Given the description of an element on the screen output the (x, y) to click on. 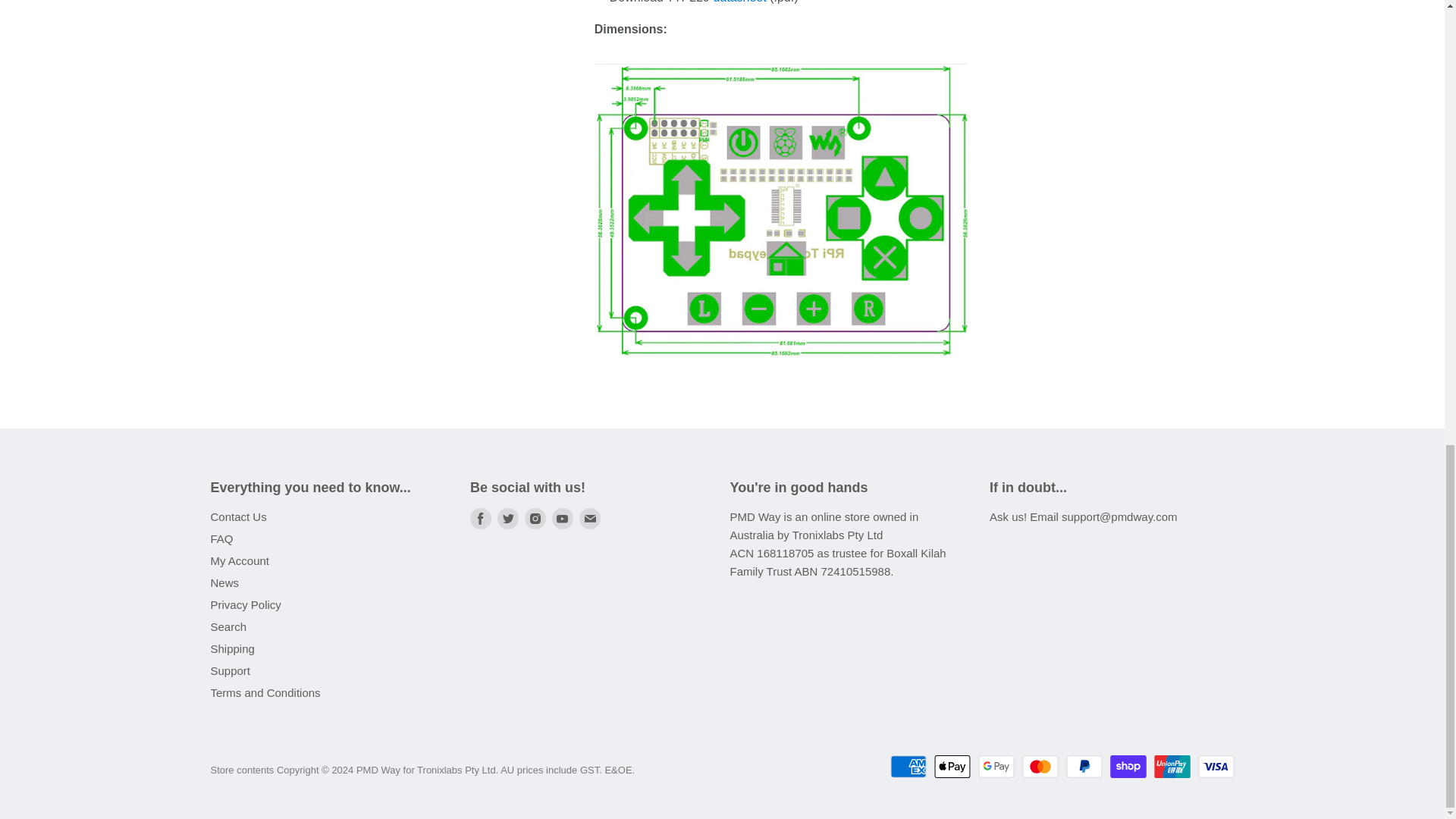
Youtube (562, 518)
Twitter (508, 518)
E-mail (590, 518)
Facebook (481, 518)
Instagram (534, 518)
